Given the description of an element on the screen output the (x, y) to click on. 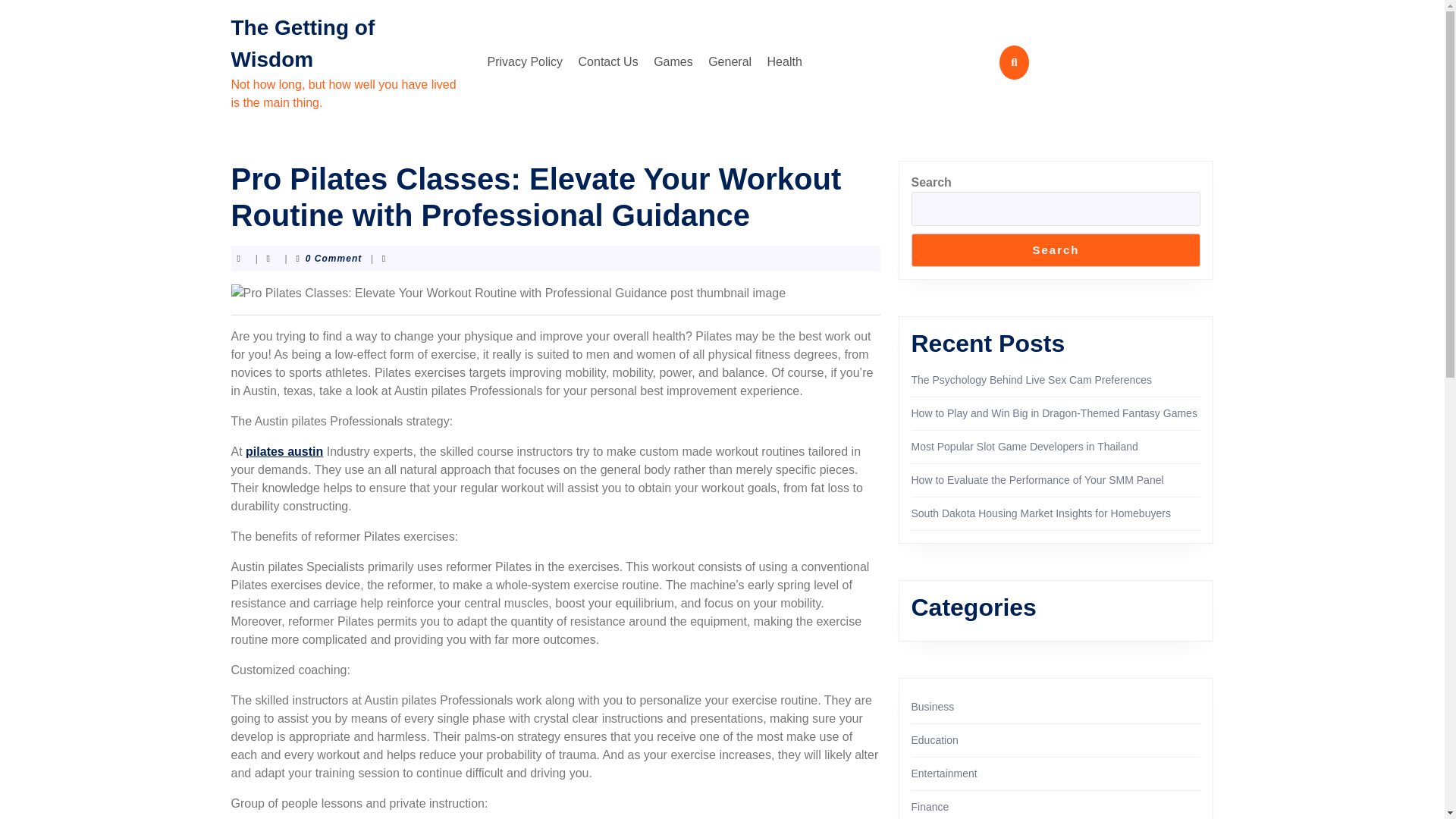
pilates austin (284, 451)
Entertainment (943, 773)
South Dakota Housing Market Insights for Homebuyers (1040, 512)
The Getting of Wisdom (302, 43)
The Psychology Behind Live Sex Cam Preferences (1032, 379)
Contact Us (608, 61)
Health (784, 61)
Search (1056, 250)
Privacy Policy (524, 61)
Business (933, 706)
Finance (930, 806)
Education (934, 739)
How to Evaluate the Performance of Your SMM Panel (1037, 480)
How to Play and Win Big in Dragon-Themed Fantasy Games (1053, 413)
Most Popular Slot Game Developers in Thailand (1024, 446)
